Given the description of an element on the screen output the (x, y) to click on. 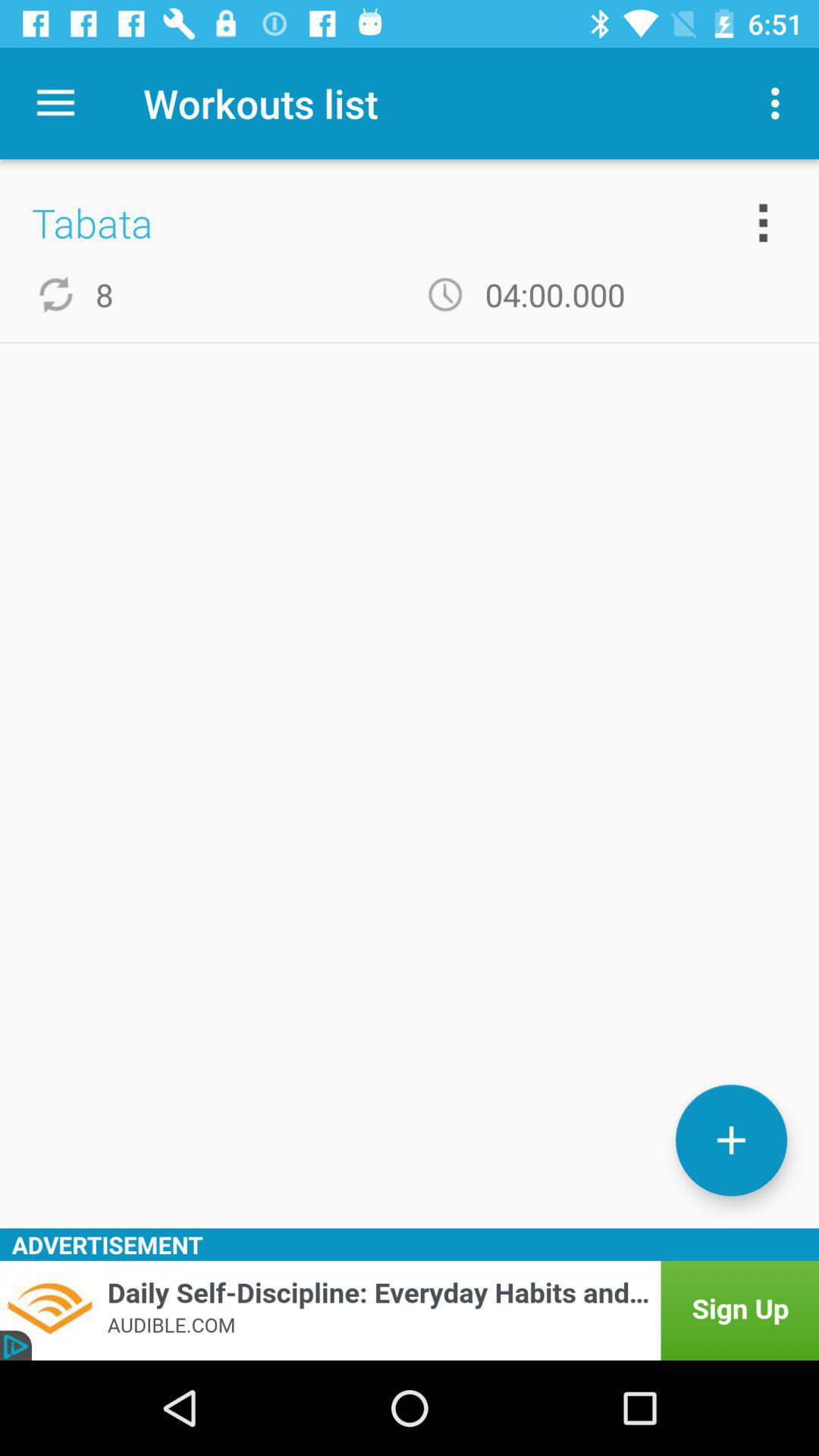
select icon next to the workouts list app (55, 103)
